Given the description of an element on the screen output the (x, y) to click on. 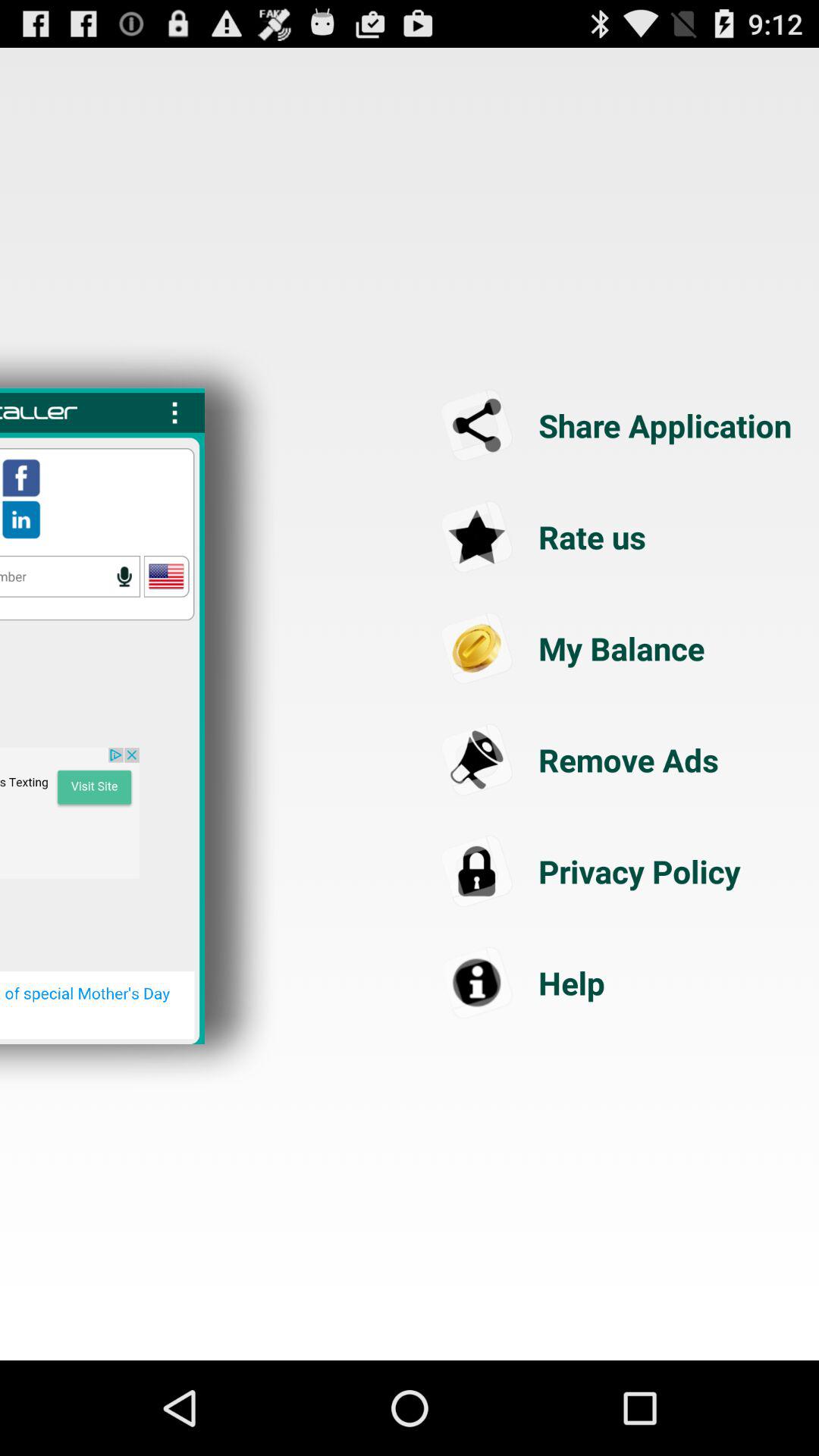
open settings page (175, 412)
